Given the description of an element on the screen output the (x, y) to click on. 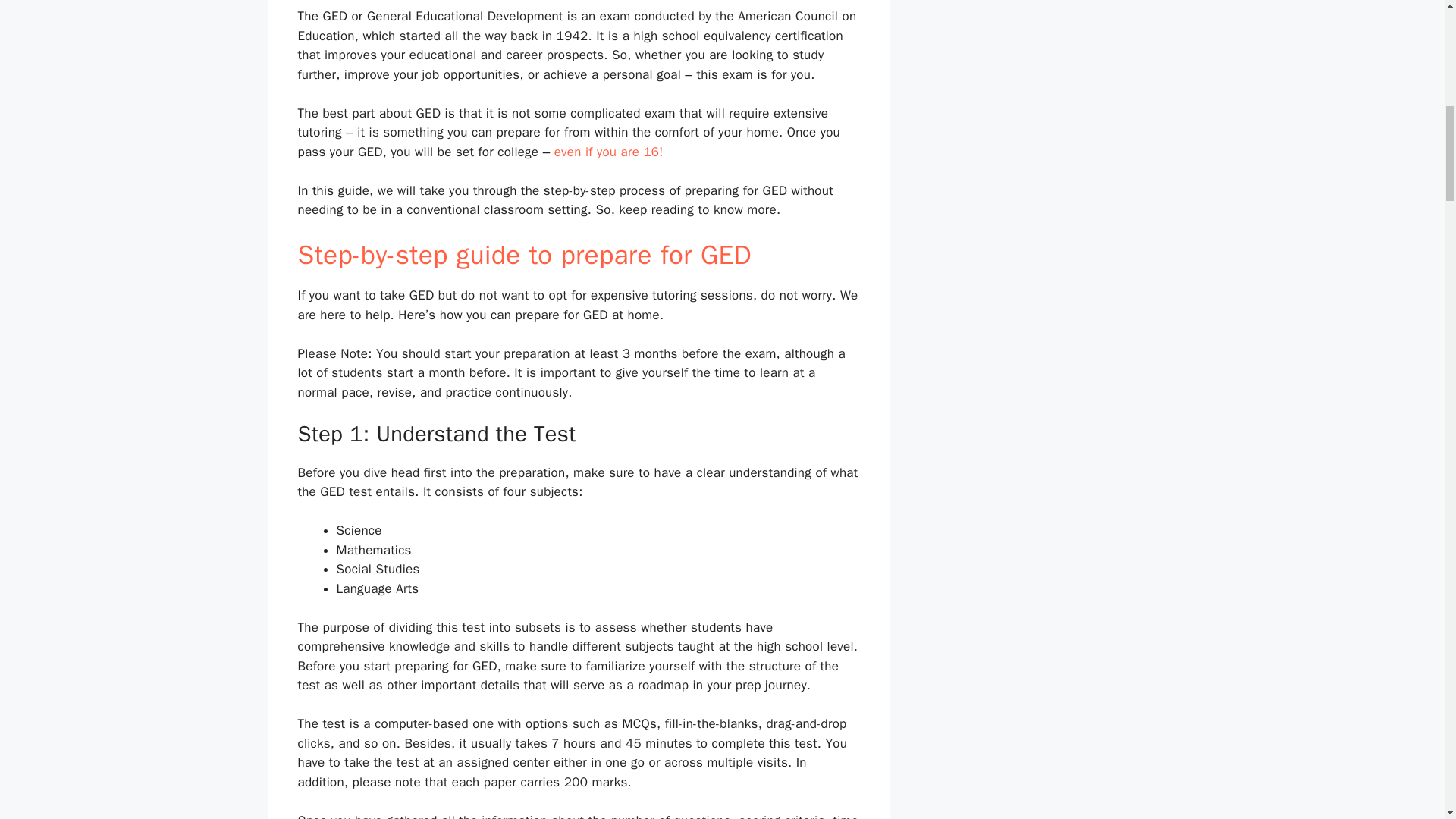
Scroll back to top (1406, 720)
even if you are 16! (608, 151)
